Given the description of an element on the screen output the (x, y) to click on. 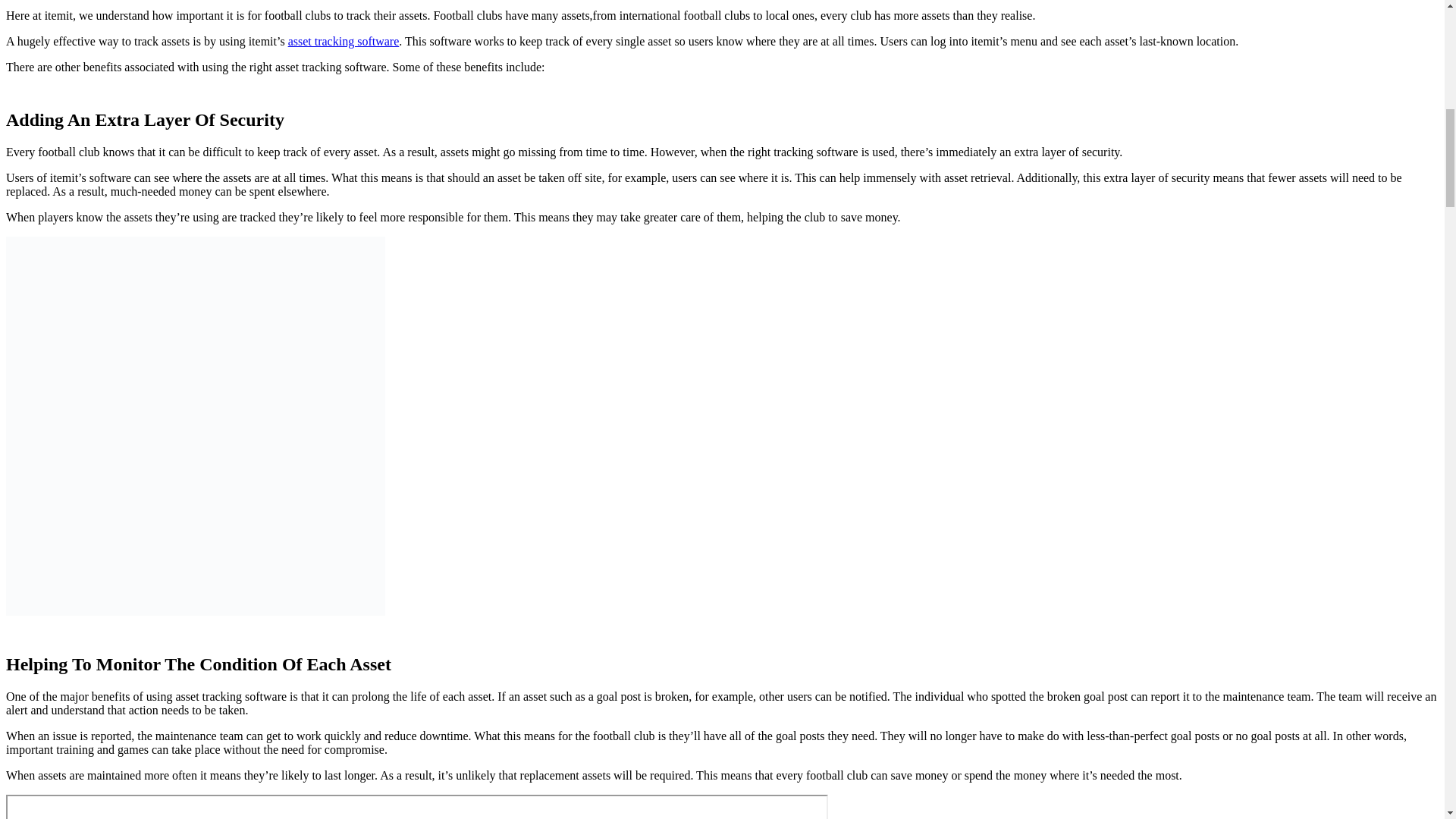
Issue and Defect Reporting (416, 806)
